Given the description of an element on the screen output the (x, y) to click on. 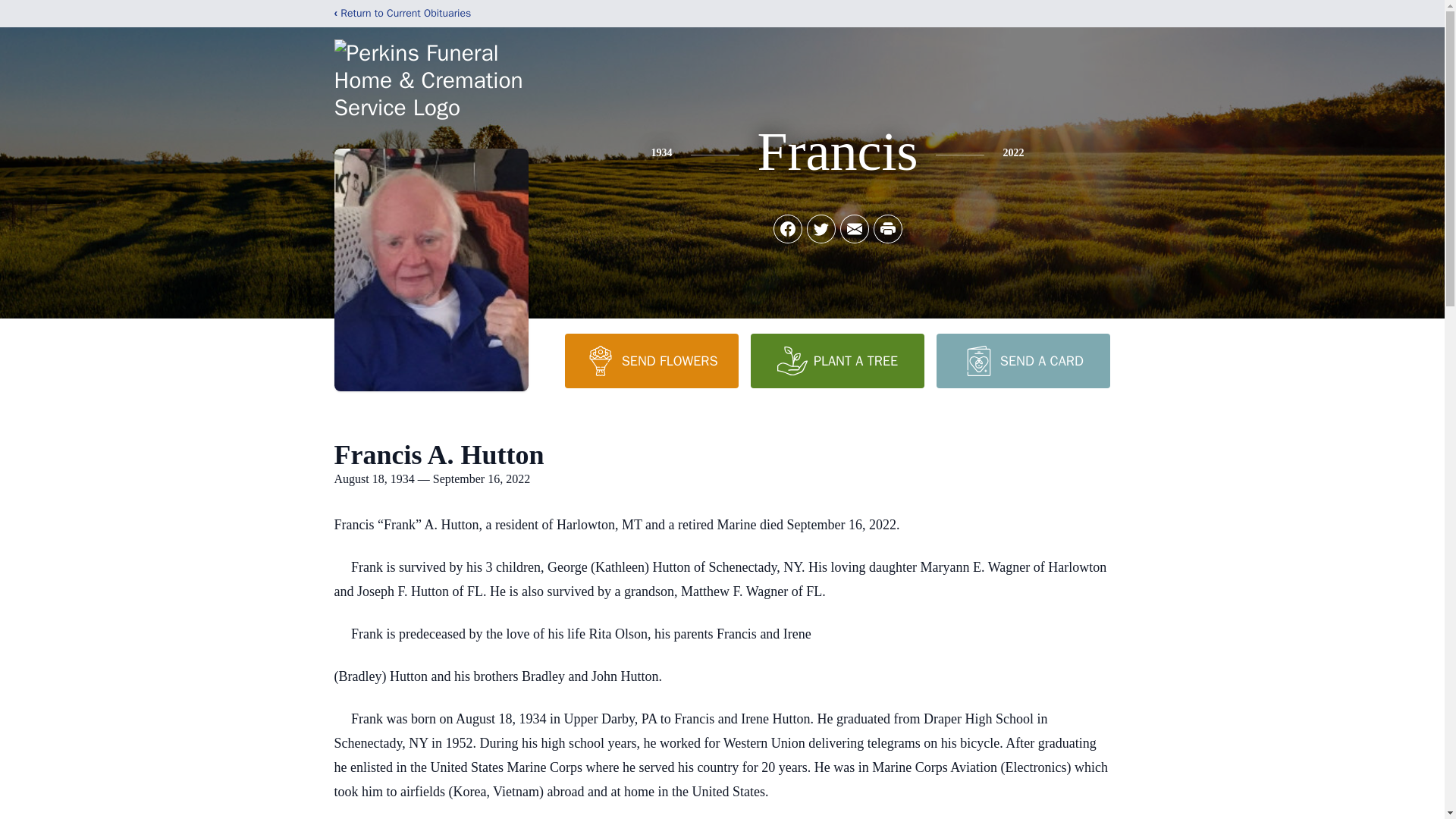
PLANT A TREE (837, 360)
SEND A CARD (1022, 360)
SEND FLOWERS (651, 360)
